Given the description of an element on the screen output the (x, y) to click on. 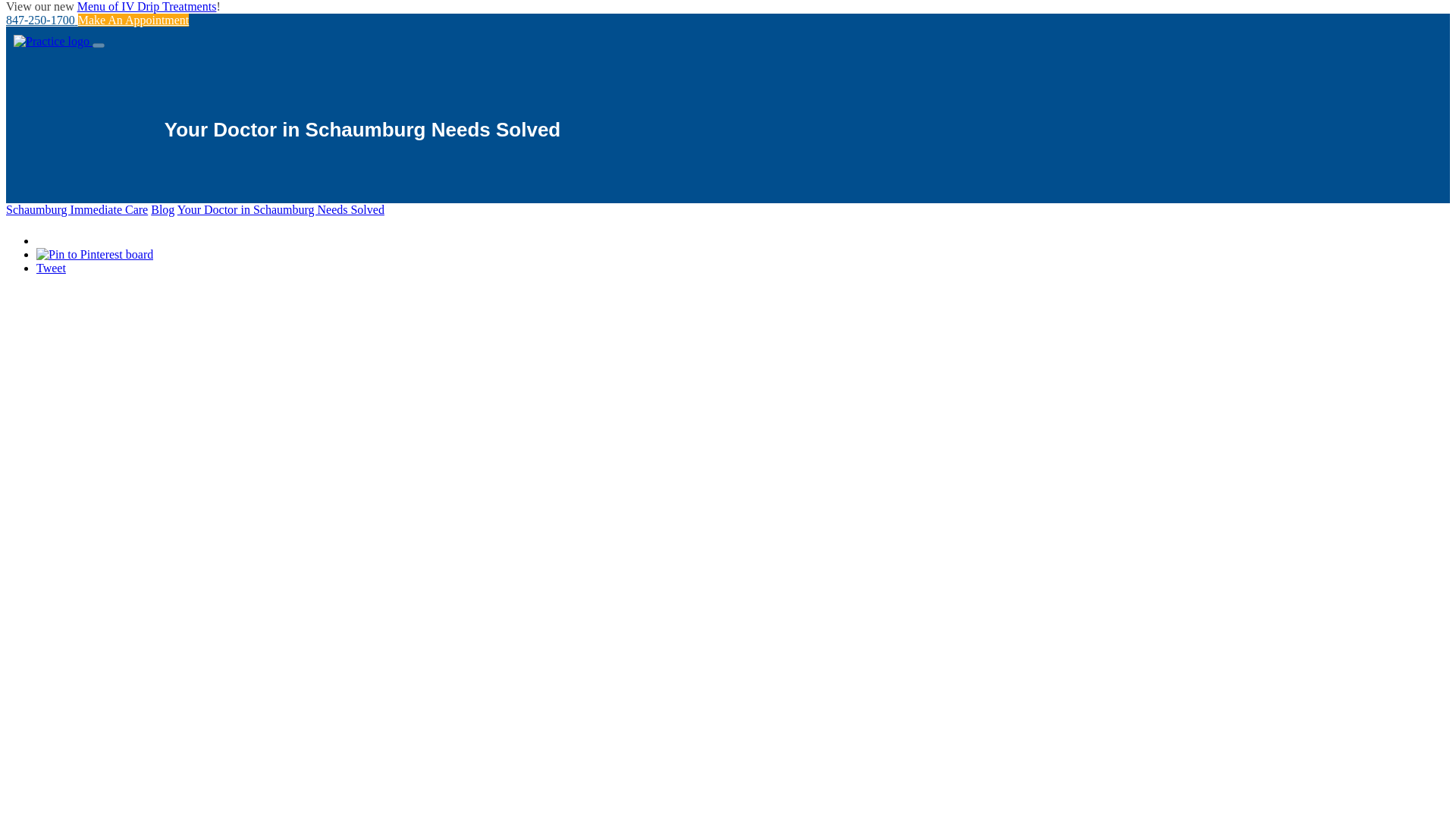
Your Doctor in Schaumburg Needs Solved (280, 209)
847-250-1700 (41, 19)
Tweet (50, 267)
Make An Appointment (133, 19)
Schaumburg Immediate Care (76, 209)
Menu of IV Drip Treatments (146, 6)
Facebook social button (89, 236)
Blog (162, 209)
